Given the description of an element on the screen output the (x, y) to click on. 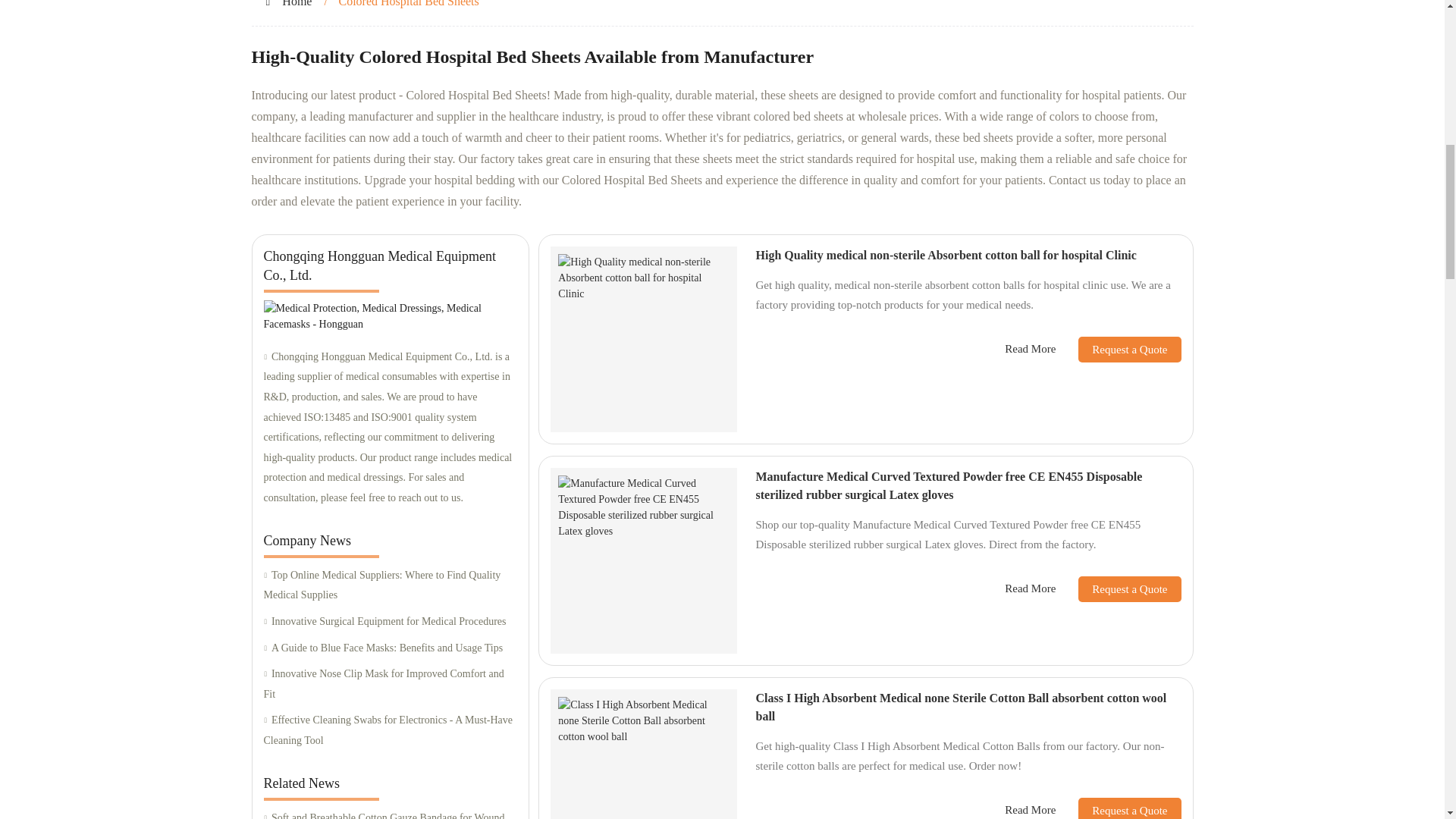
A Guide to Blue Face Masks: Benefits and Usage Tips (389, 648)
Read More (1029, 810)
Innovative Surgical Equipment for Medical Procedures (389, 621)
Home (296, 3)
Innovative Nose Clip Mask for Improved Comfort and Fit (389, 684)
Read More (1029, 588)
Read More (1029, 348)
Request a Quote (1117, 349)
Soft and Breathable Cotton Gauze Bandage for Wound Care (389, 813)
Request a Quote (1117, 588)
